Given the description of an element on the screen output the (x, y) to click on. 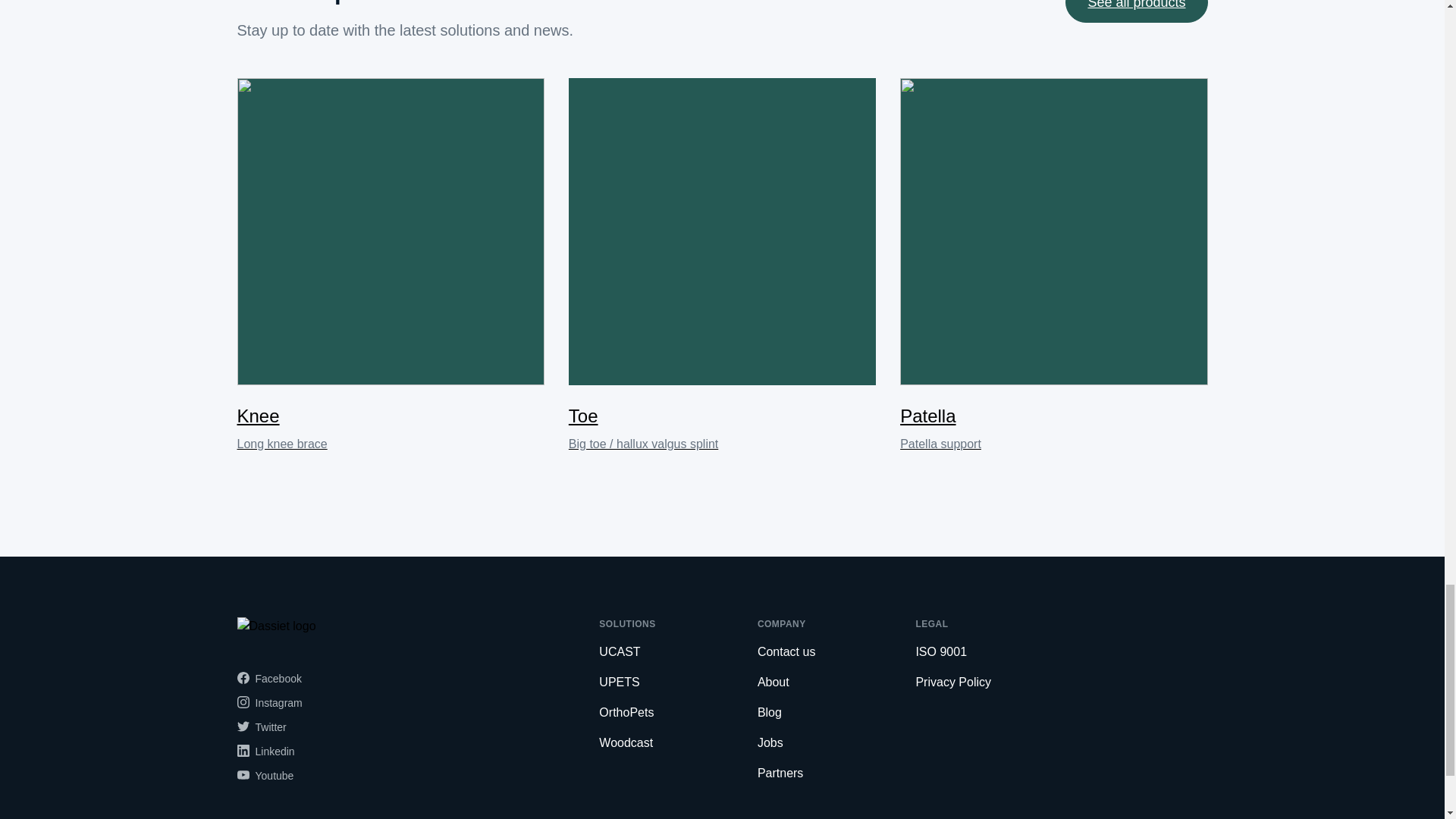
Twitter (1136, 11)
Instagram (260, 726)
Facebook (268, 702)
